Given the description of an element on the screen output the (x, y) to click on. 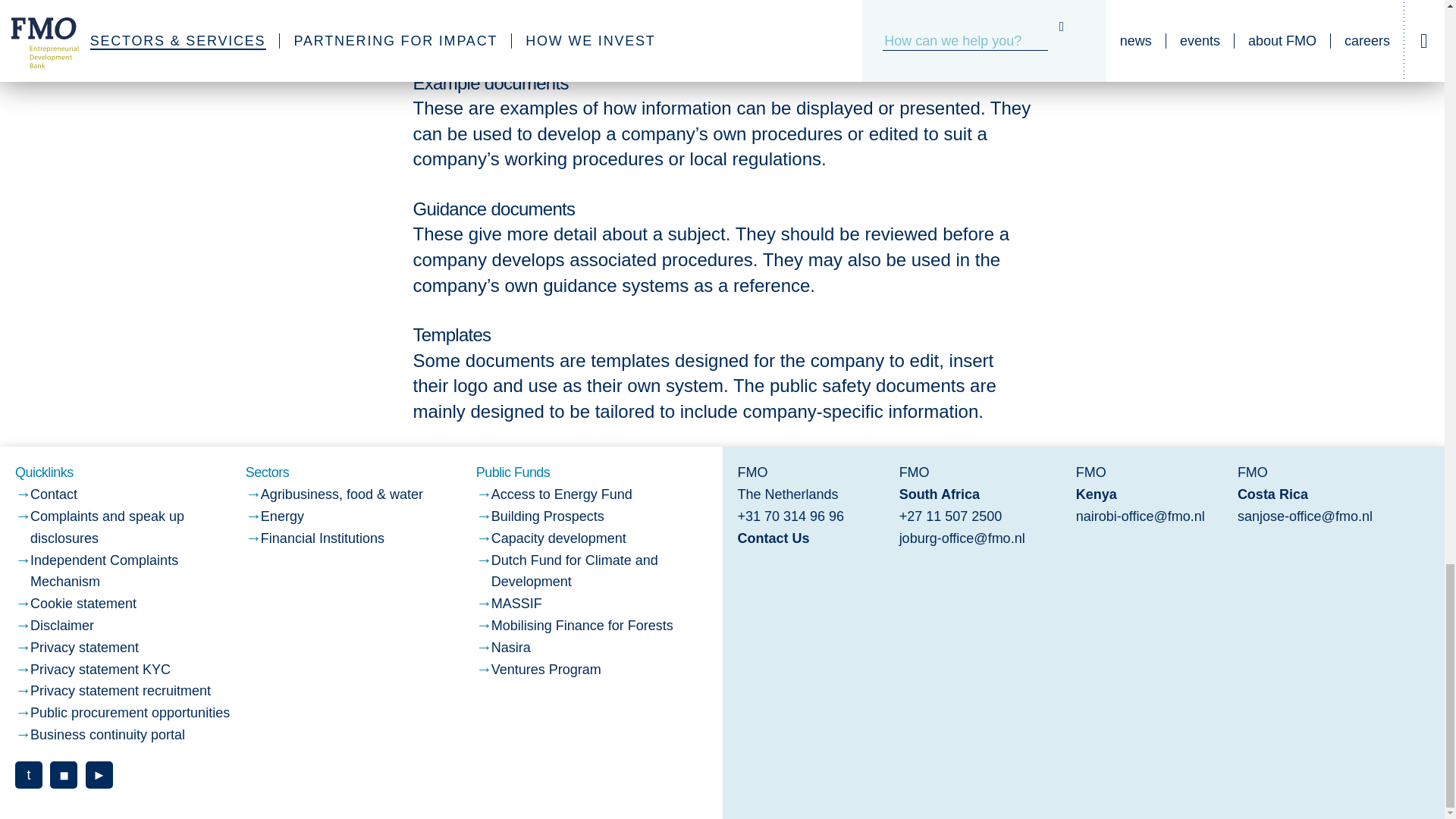
Contact (53, 494)
Complaints and speak up disclosures (107, 527)
Privacy statement (84, 647)
Business continuity portal (107, 734)
Independent Complaints Mechanism (103, 570)
Disclaimer (62, 625)
Cookie statement (83, 603)
Privacy statement KYC (100, 669)
Public procurement opportunities (130, 712)
Privacy statement recruitment (120, 690)
